Given the description of an element on the screen output the (x, y) to click on. 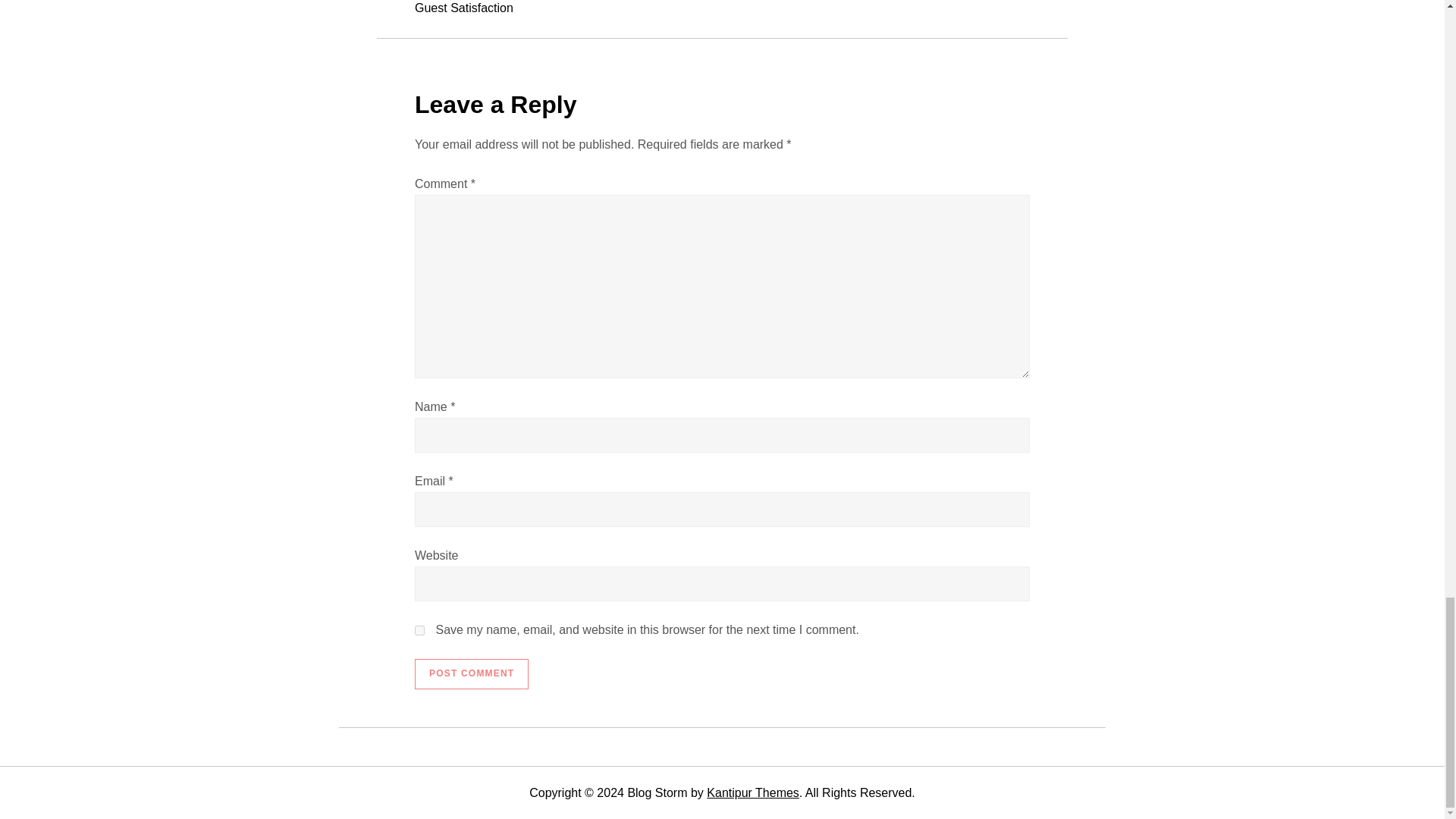
yes (419, 630)
Post Comment (471, 674)
Kantipur Themes (752, 792)
Post Comment (471, 674)
